Given the description of an element on the screen output the (x, y) to click on. 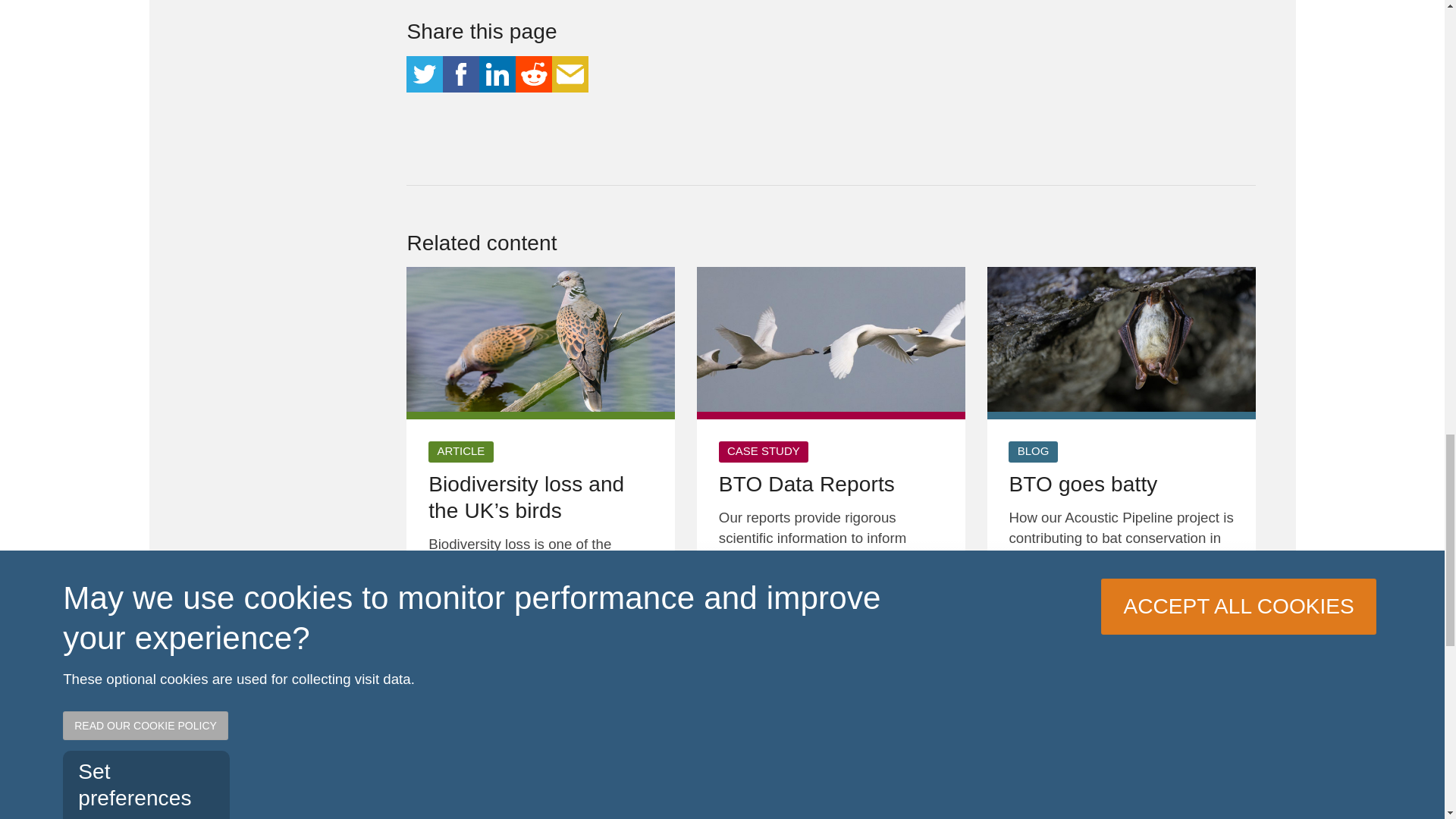
Share this content by email (569, 74)
Submit this post on reddit.com (533, 74)
Share this on Twitter (424, 74)
Bewick's Swan. Chris Knights (831, 338)
Share on Facebook (460, 74)
Publish this post to LinkedIn (497, 74)
